Given the description of an element on the screen output the (x, y) to click on. 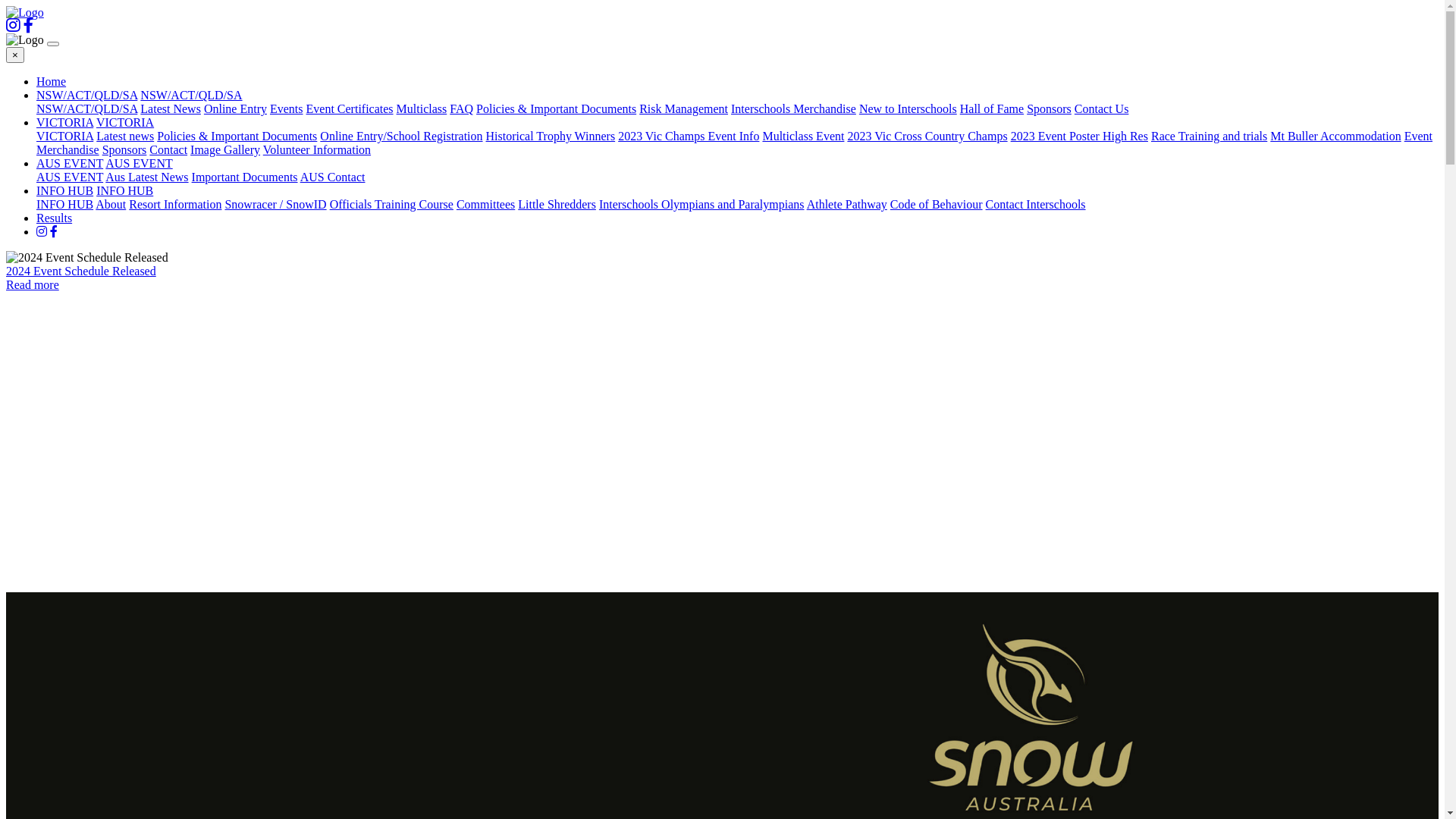
2023 Vic Champs Event Info Element type: text (688, 135)
Contact Us Element type: text (1101, 108)
AUS Contact Element type: text (332, 176)
Latest news Element type: text (124, 135)
Results Element type: text (54, 217)
Officials Training Course Element type: text (391, 203)
Sponsors Element type: text (1048, 108)
2024 Event Schedule Released Element type: text (81, 270)
NSW/ACT/QLD/SA Element type: text (86, 94)
About Element type: text (110, 203)
AUS EVENT Element type: text (138, 162)
Resort Information Element type: text (174, 203)
Race Training and trials Element type: text (1209, 135)
Interschools Olympians and Paralympians Element type: text (701, 203)
New to Interschools Element type: text (908, 108)
Little Shredders Element type: text (556, 203)
Image Gallery Element type: text (225, 149)
Event Certificates Element type: text (349, 108)
Interschools Merchandise Element type: text (793, 108)
FAQ Element type: text (461, 108)
2023 Vic Cross Country Champs Element type: text (927, 135)
INFO HUB Element type: text (124, 190)
Aus Latest News Element type: text (146, 176)
Committees Element type: text (485, 203)
VICTORIA Element type: text (124, 122)
Important Documents Element type: text (244, 176)
VICTORIA Element type: text (64, 135)
Contact Interschools Element type: text (1035, 203)
2023 Event Poster High Res Element type: text (1079, 135)
Historical Trophy Winners Element type: text (550, 135)
Volunteer Information Element type: text (316, 149)
Read more Element type: text (32, 284)
Latest News Element type: text (170, 108)
Online Entry Element type: text (234, 108)
NSW/ACT/QLD/SA Element type: text (86, 108)
Code of Behaviour Element type: text (936, 203)
Online Entry/School Registration Element type: text (401, 135)
Athlete Pathway Element type: text (846, 203)
INFO HUB Element type: text (64, 203)
Risk Management Element type: text (683, 108)
Contact Element type: text (168, 149)
Multiclass Element type: text (421, 108)
Event Merchandise Element type: text (734, 142)
AUS EVENT Element type: text (69, 176)
Policies & Important Documents Element type: text (236, 135)
Snowracer / SnowID Element type: text (275, 203)
NSW/ACT/QLD/SA Element type: text (190, 94)
VICTORIA Element type: text (64, 122)
Hall of Fame Element type: text (991, 108)
Events Element type: text (286, 108)
Multiclass Event Element type: text (803, 135)
AUS EVENT Element type: text (69, 162)
Mt Buller Accommodation Element type: text (1335, 135)
Policies & Important Documents Element type: text (556, 108)
Home Element type: text (50, 81)
Sponsors Element type: text (124, 149)
INFO HUB Element type: text (64, 190)
